Given the description of an element on the screen output the (x, y) to click on. 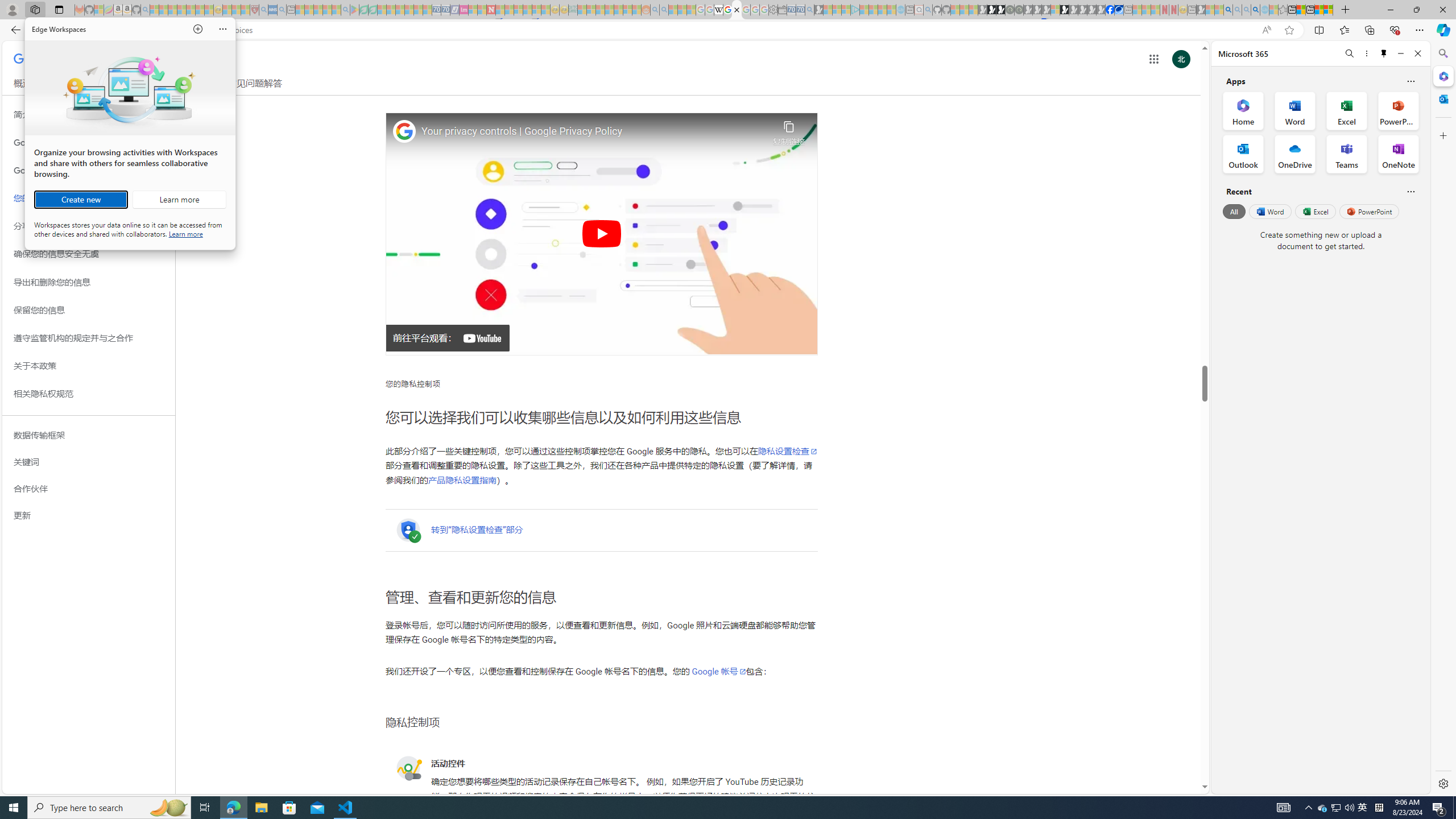
Outlook Office App (1243, 154)
Close Microsoft 365 pane (1442, 76)
